Given the description of an element on the screen output the (x, y) to click on. 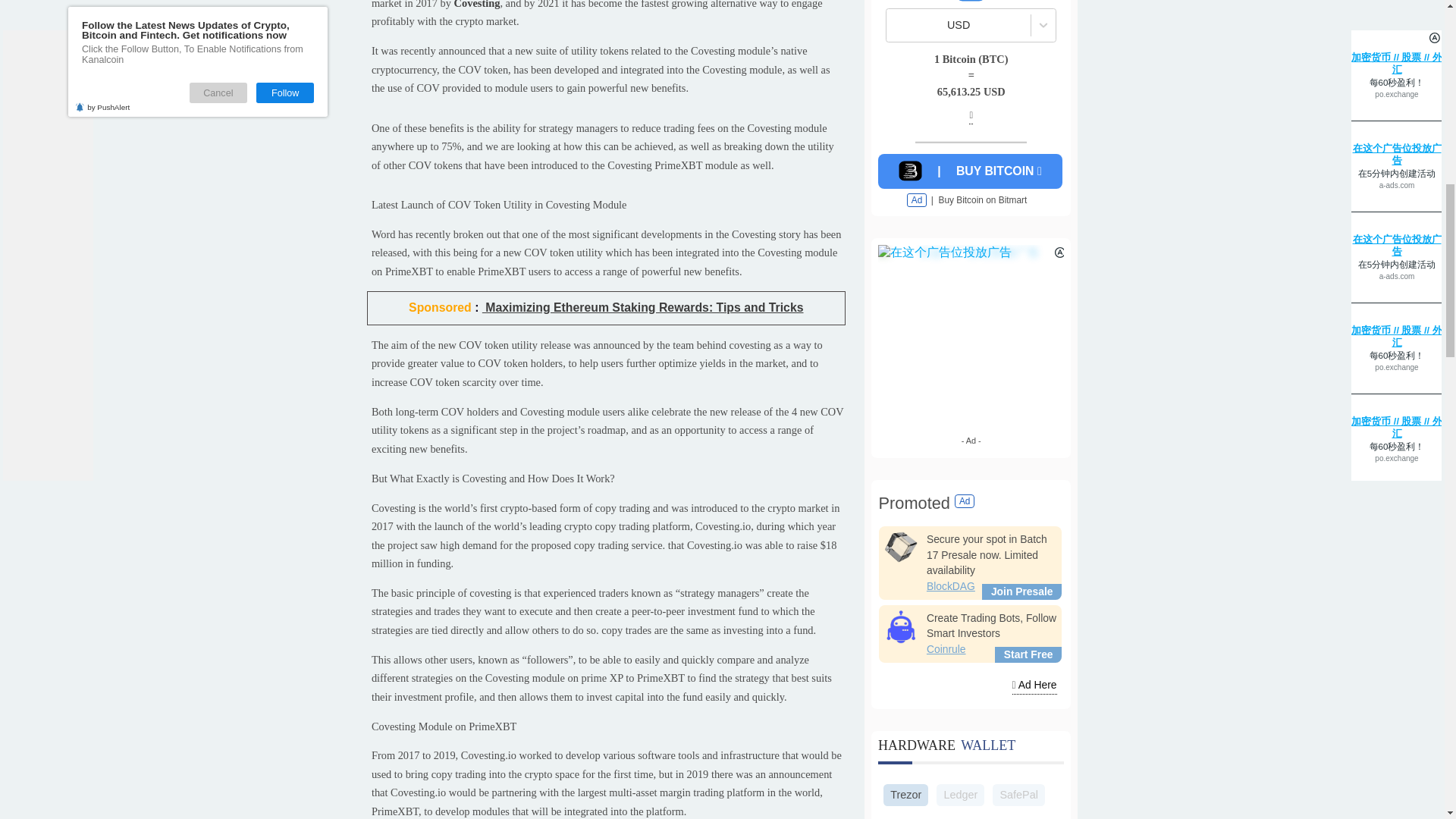
1 (1078, 8)
